Given the description of an element on the screen output the (x, y) to click on. 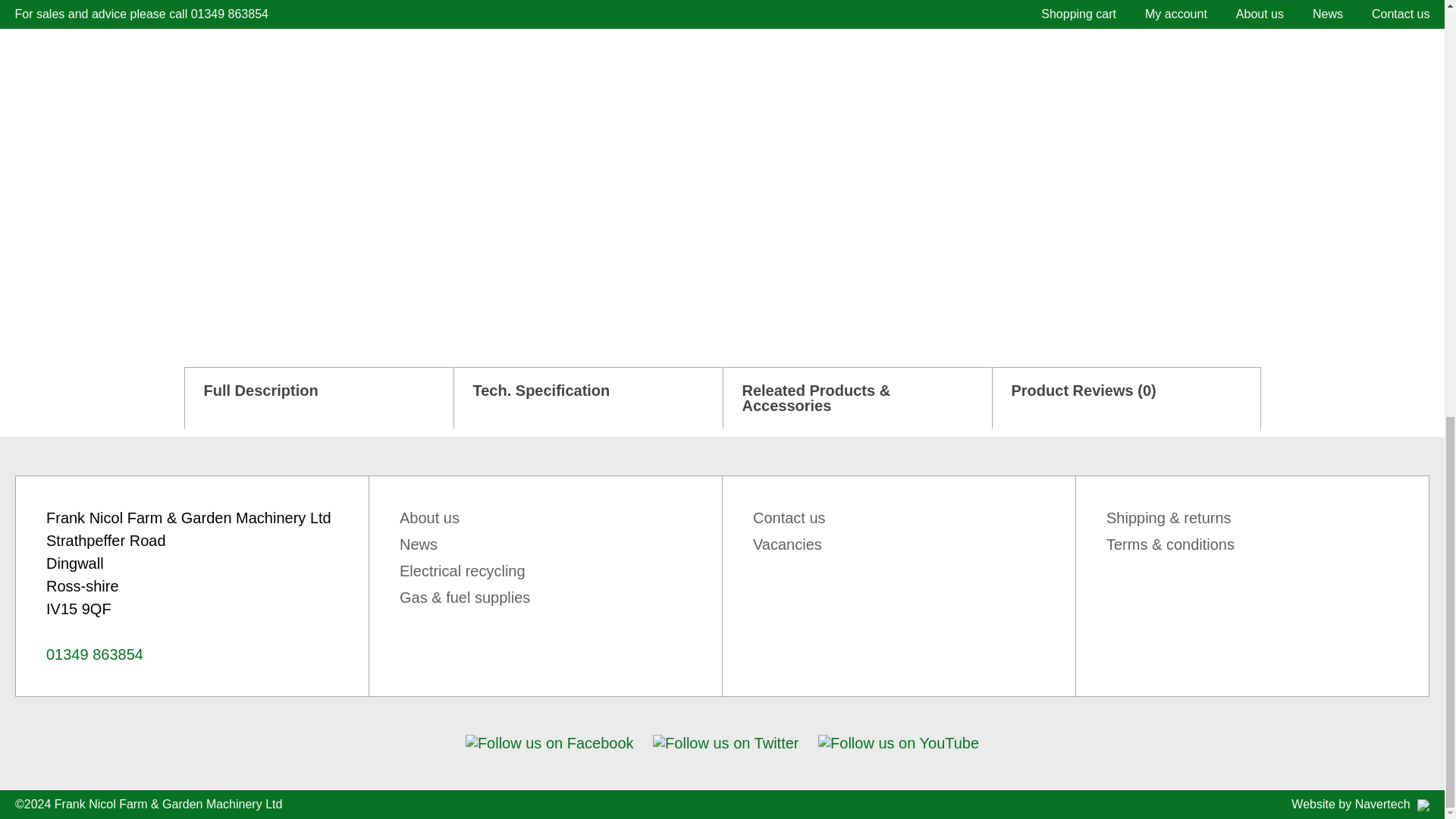
Follow us on YouTube (898, 743)
Follow us on Facebook (549, 743)
Follow us on Twitter (724, 743)
